Given the description of an element on the screen output the (x, y) to click on. 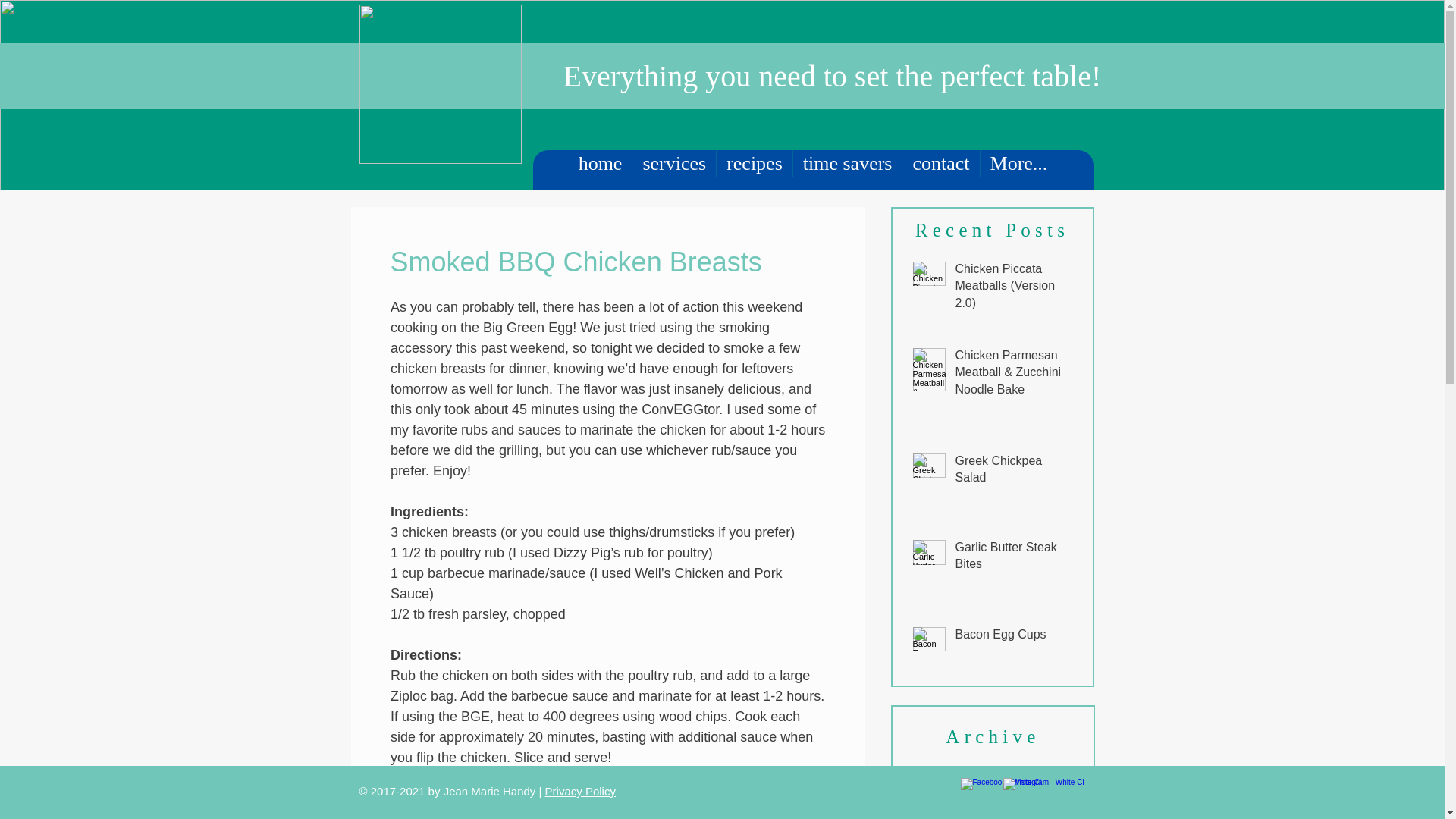
recipes (754, 169)
Bacon Egg Cups (1014, 637)
Greek Chickpea Salad (1014, 472)
time savers (847, 169)
services (673, 169)
Garlic Butter Steak Bites (1014, 558)
home (600, 169)
contact (939, 169)
